Given the description of an element on the screen output the (x, y) to click on. 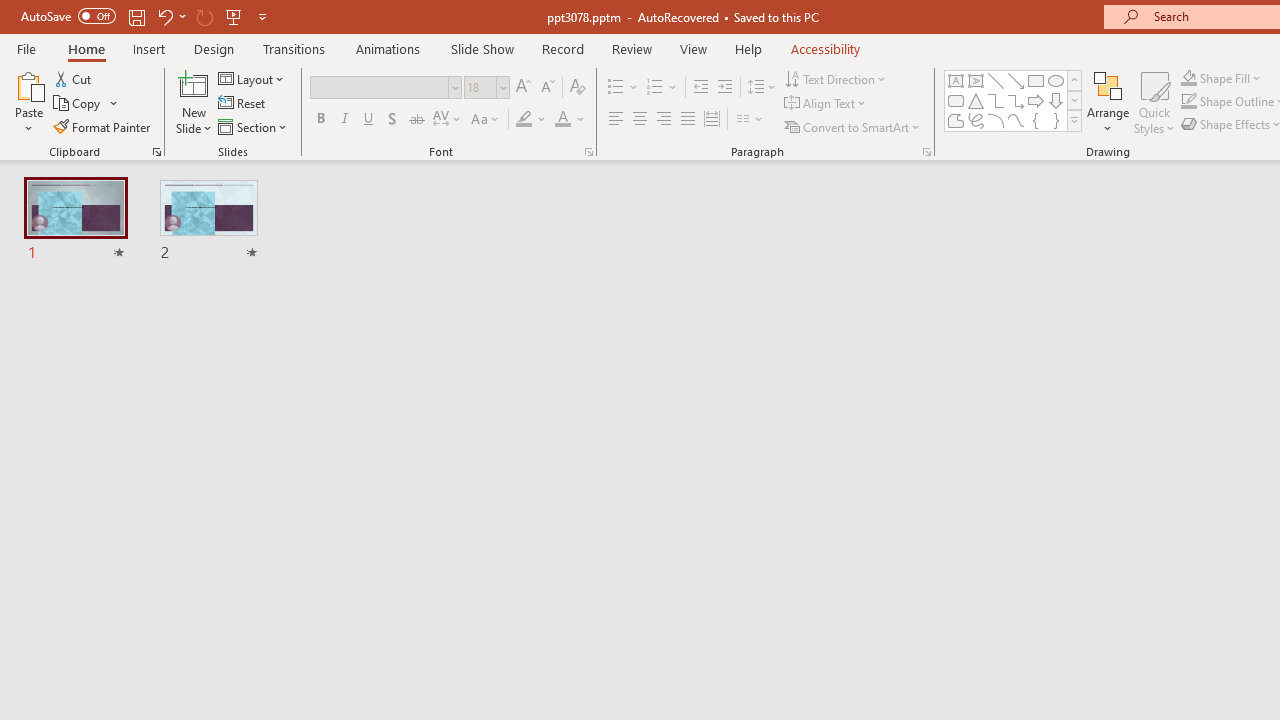
Shapes (1074, 120)
Columns (750, 119)
Freeform: Shape (955, 120)
Justify (687, 119)
Align Right (663, 119)
Font (379, 87)
Character Spacing (447, 119)
Convert to SmartArt (853, 126)
Font Color Red (562, 119)
Decrease Indent (700, 87)
Font... (588, 151)
Change Case (486, 119)
